Given the description of an element on the screen output the (x, y) to click on. 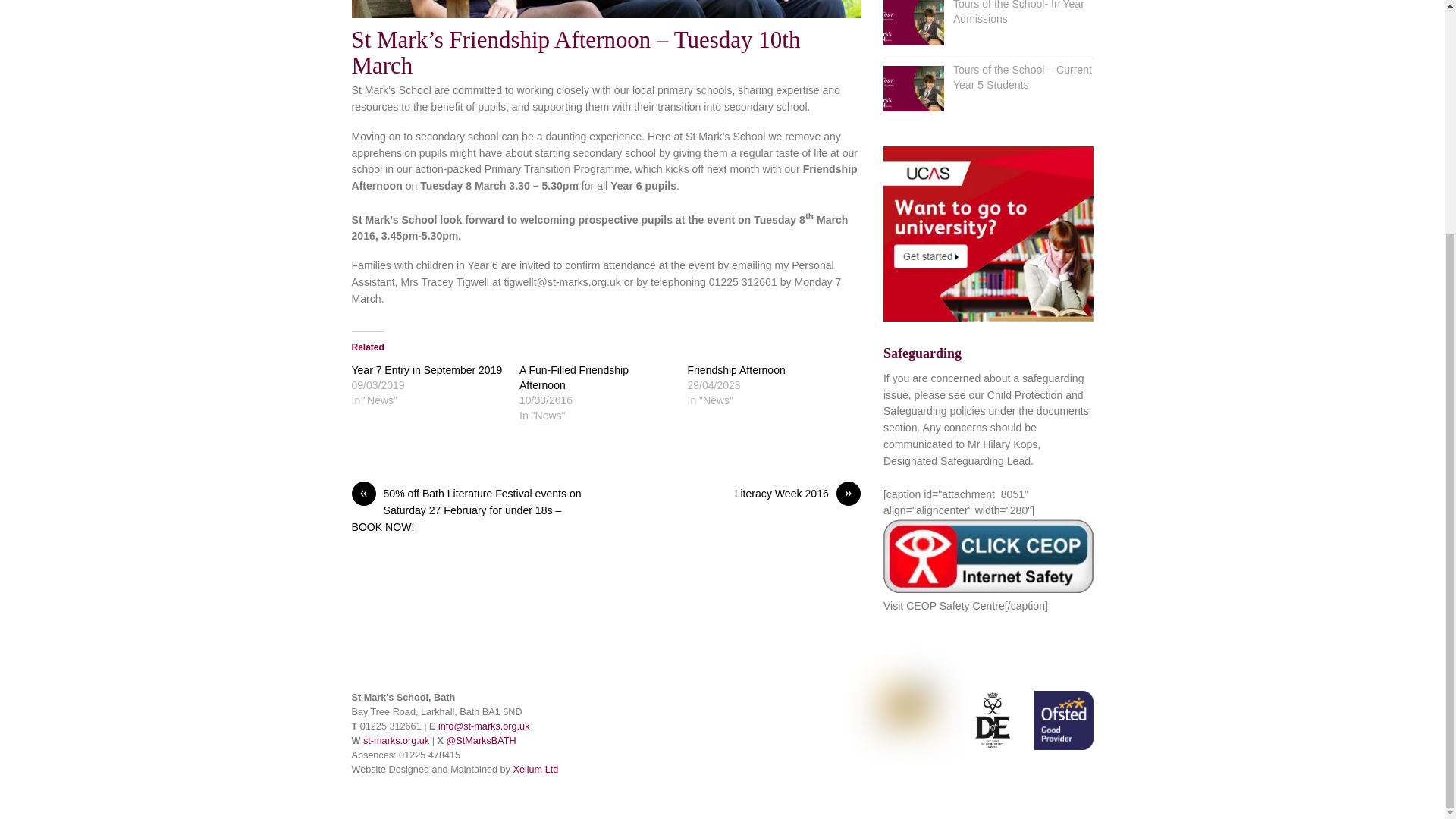
Open CEOP Safety Centre (988, 555)
Frienship Afternoon (606, 9)
Friendship Afternoon (736, 369)
Book A School Tour Current Year 5 (913, 88)
Book A School Tour In Year Admission (913, 22)
A Fun-Filled Friendship Afternoon (573, 377)
St Mark's Ofsted is Good (1063, 720)
Year 7 Entry in September 2019 (427, 369)
